Given the description of an element on the screen output the (x, y) to click on. 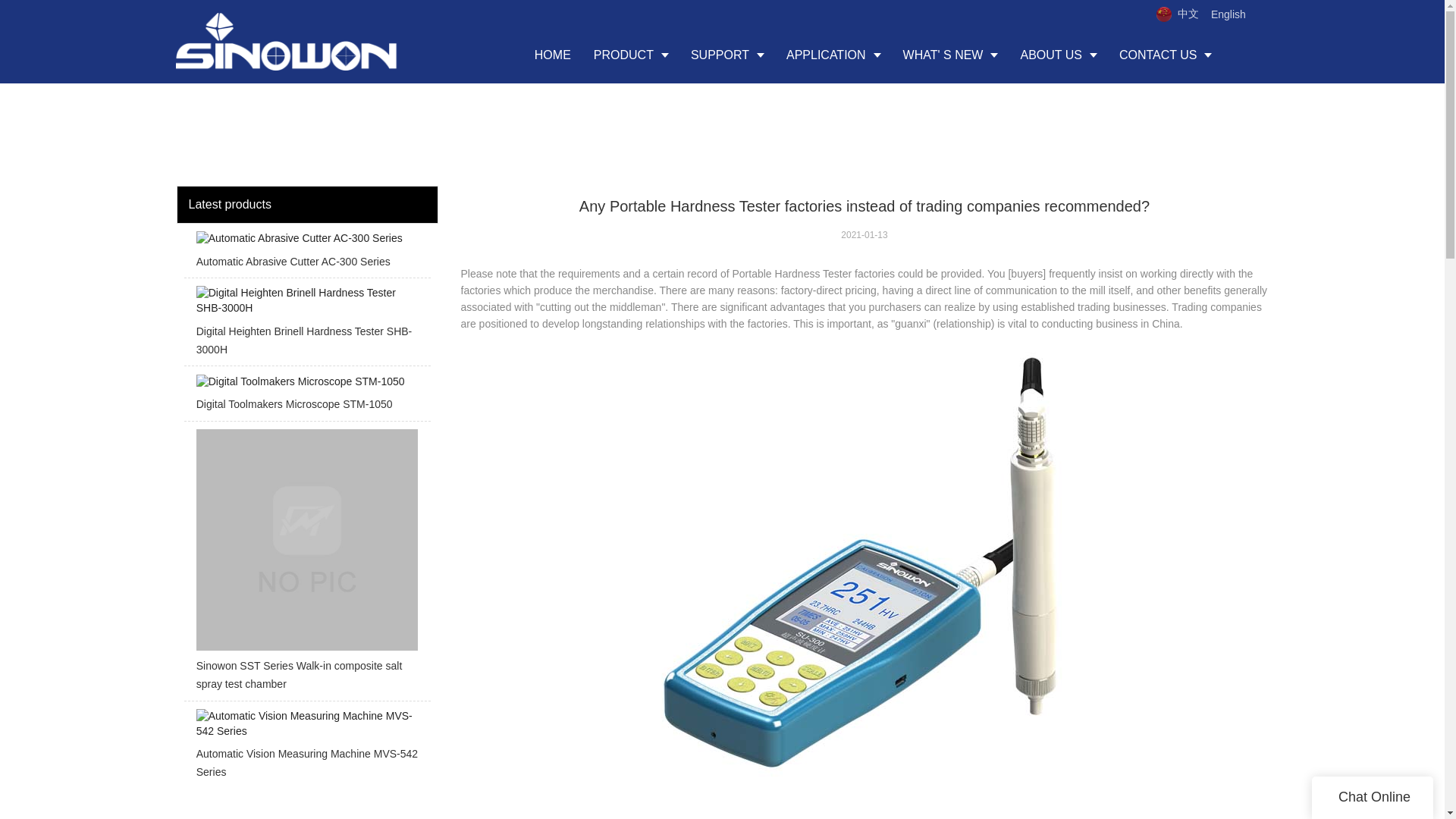
HOME (552, 55)
PRODUCT (630, 55)
SUPPORT (726, 55)
